Given the description of an element on the screen output the (x, y) to click on. 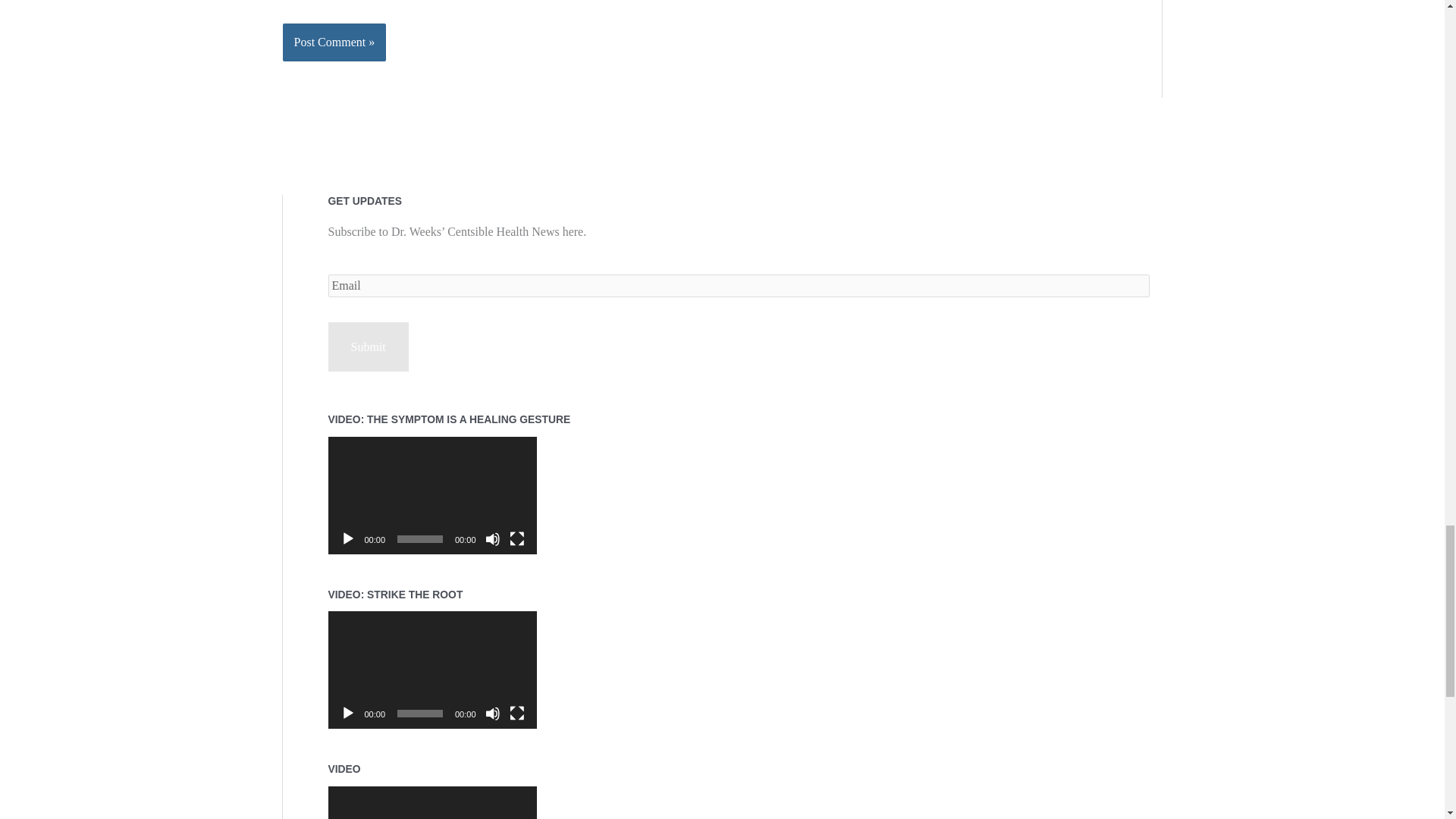
Mute (492, 539)
Play (347, 539)
Play (347, 713)
Mute (492, 713)
Fullscreen (516, 713)
Submit (367, 347)
Fullscreen (516, 539)
Email (737, 285)
